Given the description of an element on the screen output the (x, y) to click on. 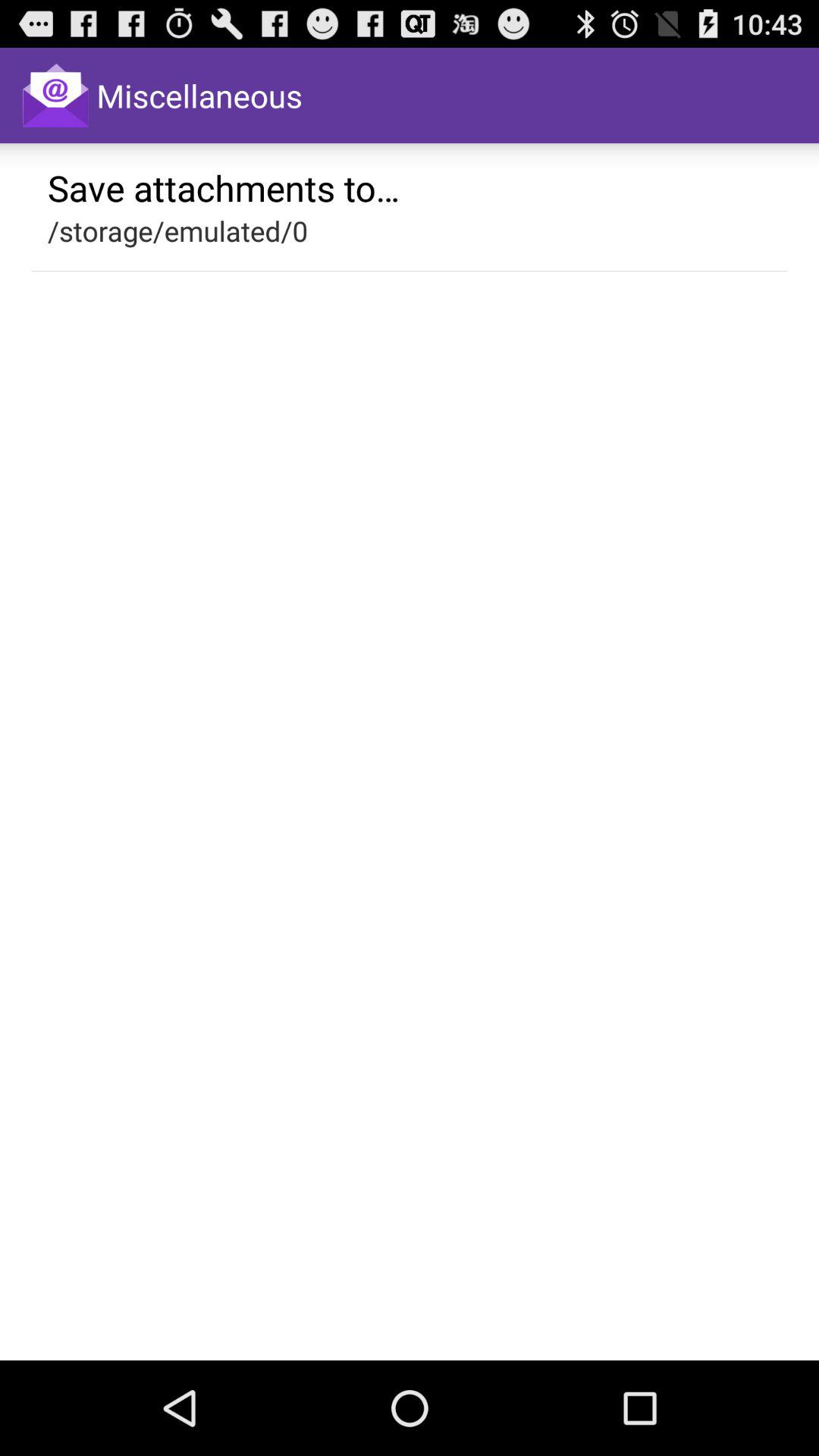
open /storage/emulated/0 (177, 230)
